Given the description of an element on the screen output the (x, y) to click on. 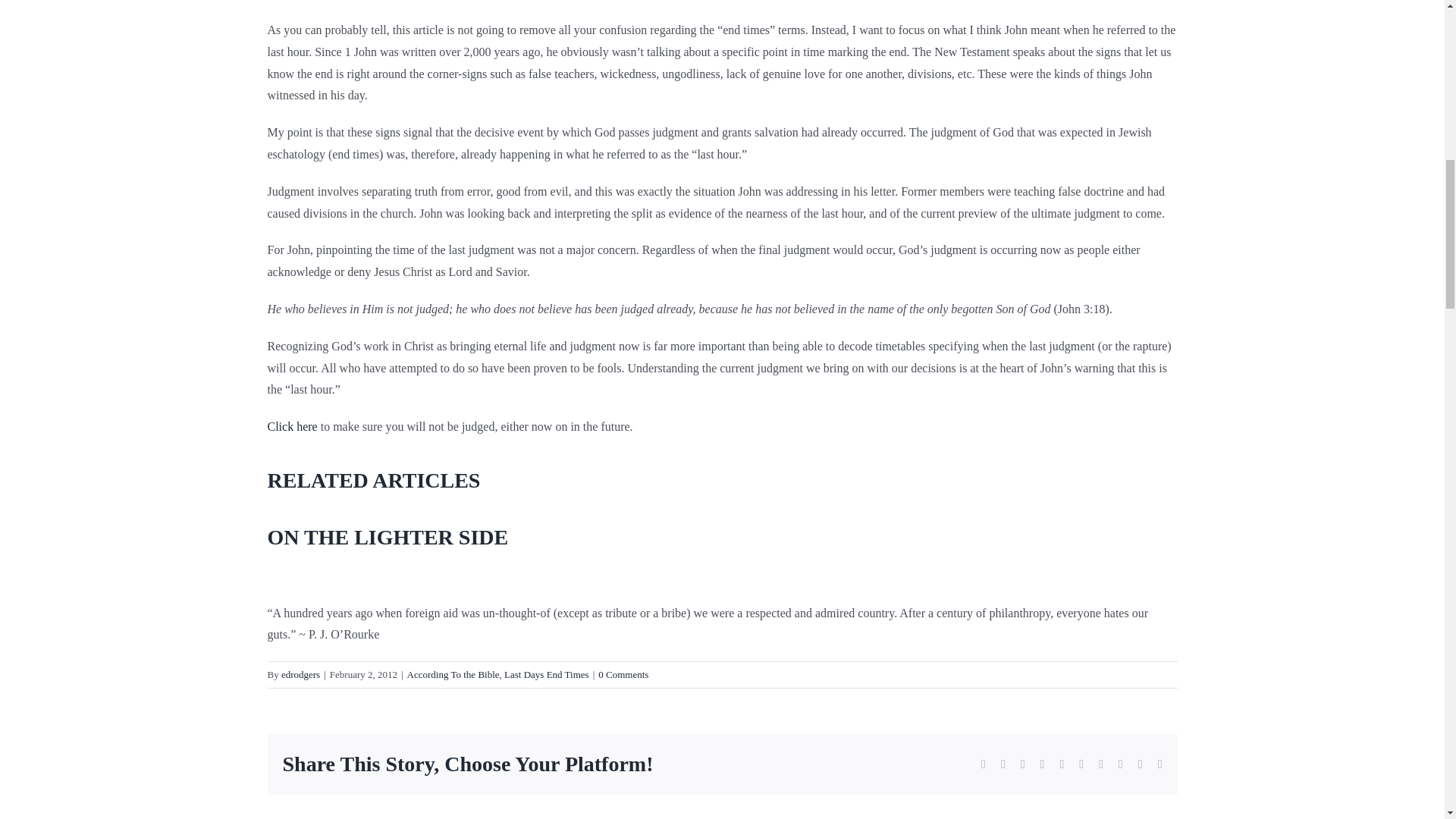
Posts by edrodgers (300, 674)
